Given the description of an element on the screen output the (x, y) to click on. 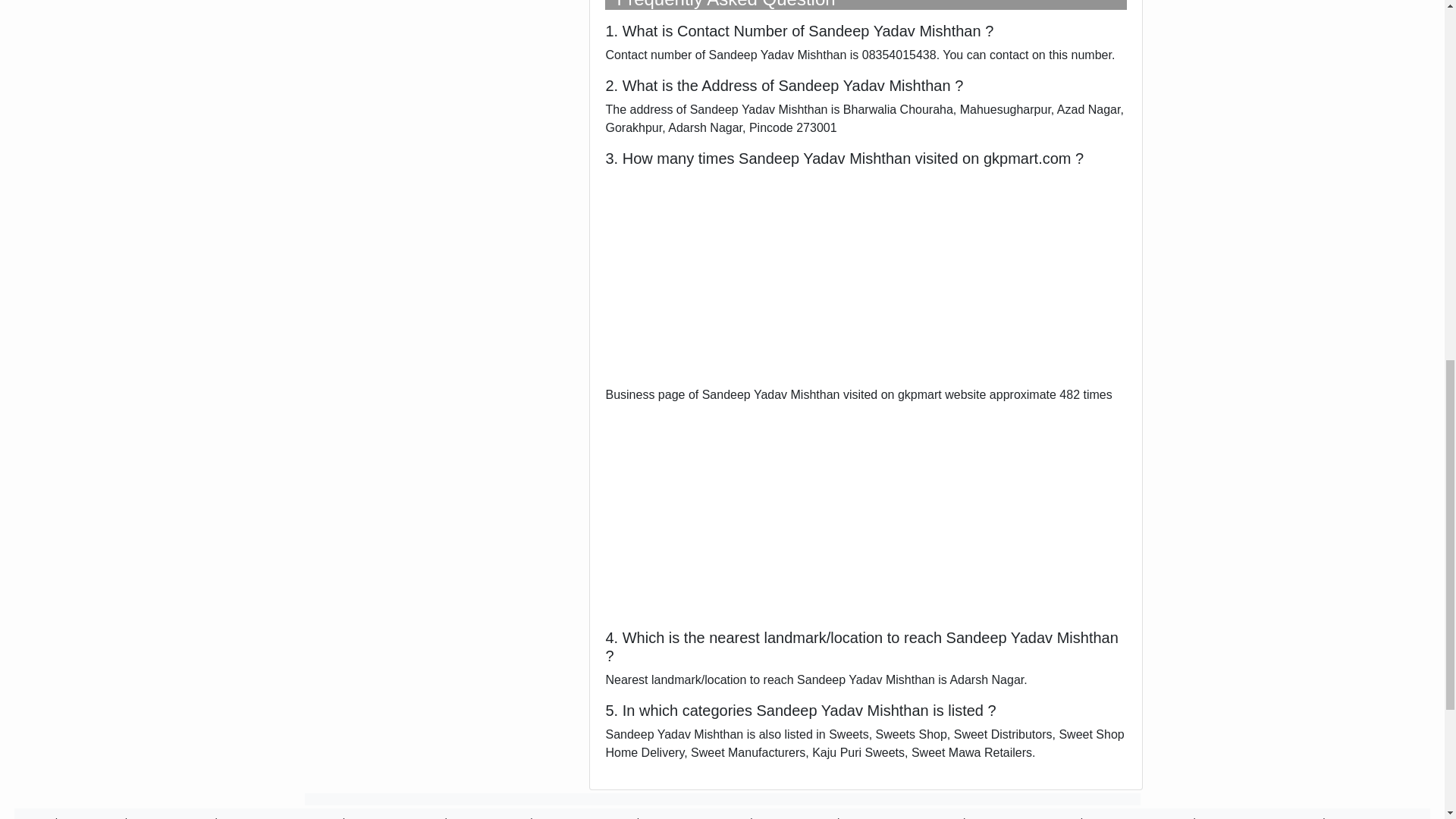
Advertisement (865, 279)
Advertisement (865, 510)
